Given the description of an element on the screen output the (x, y) to click on. 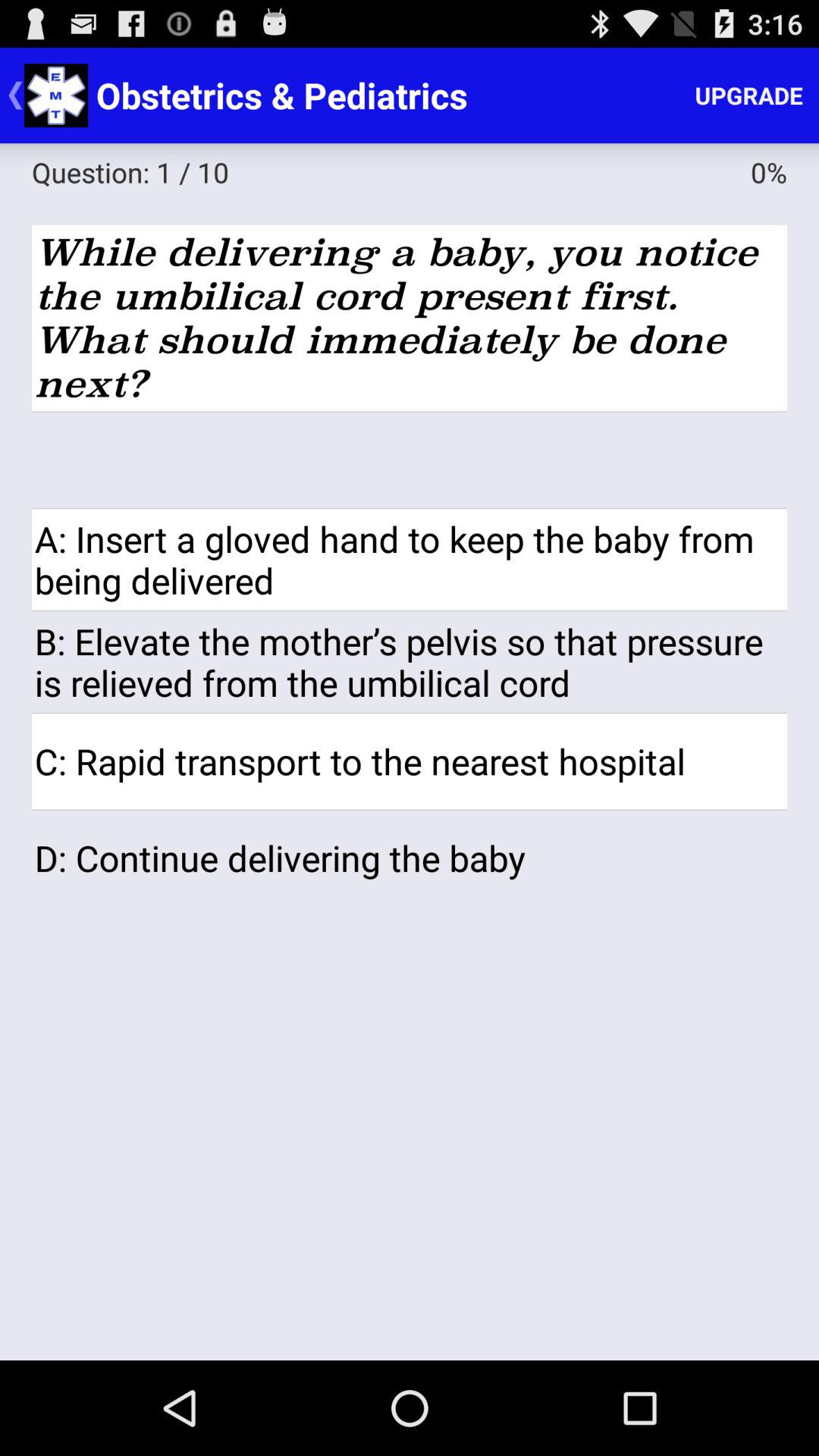
press a insert a app (409, 559)
